Given the description of an element on the screen output the (x, y) to click on. 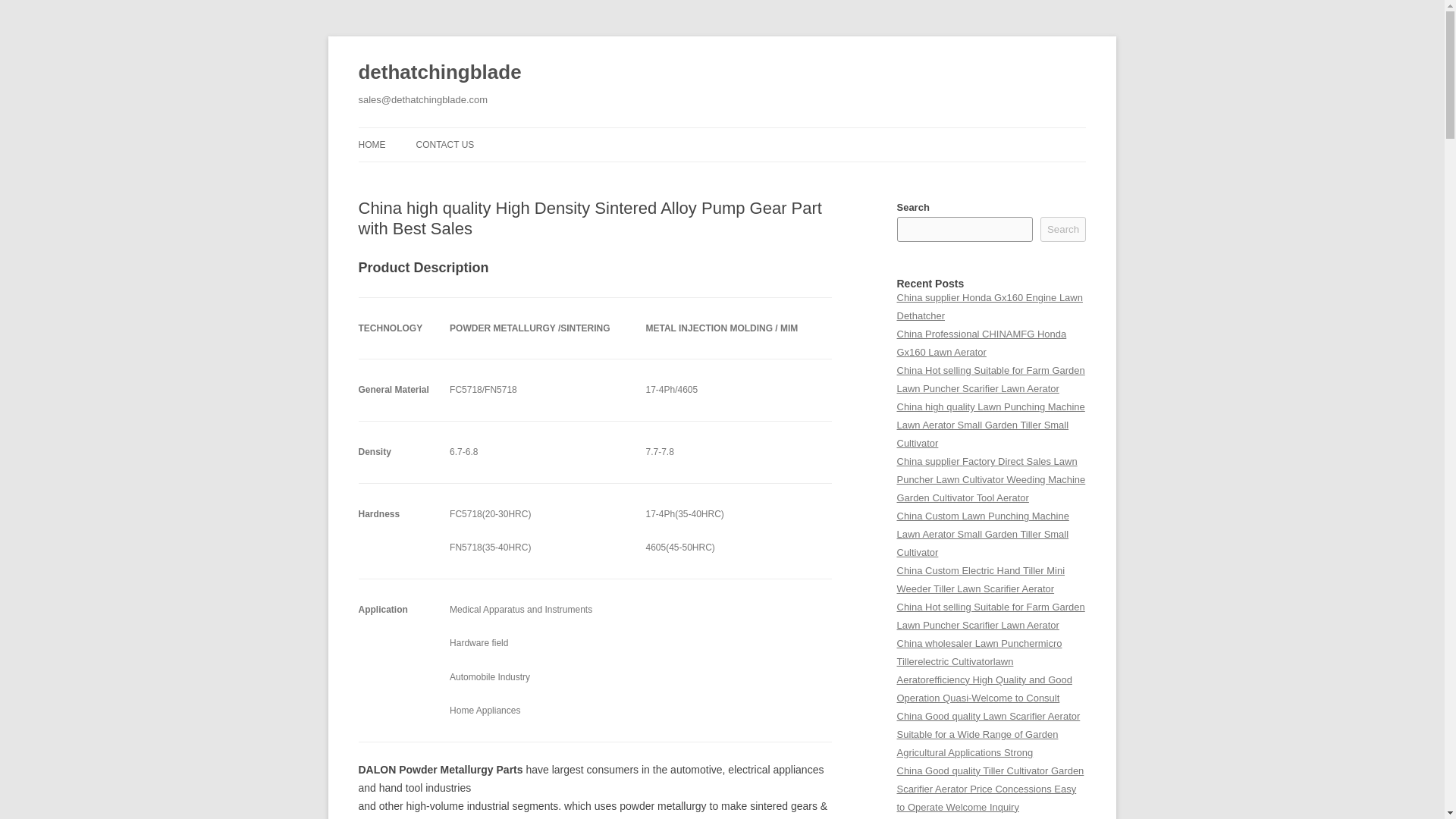
China supplier Honda Gx160 Engine Lawn Dethatcher (988, 306)
dethatchingblade (439, 72)
dethatchingblade (439, 72)
China Professional CHINAMFG Honda Gx160 Lawn Aerator (980, 342)
CONTACT US (444, 144)
Search (1063, 229)
